Given the description of an element on the screen output the (x, y) to click on. 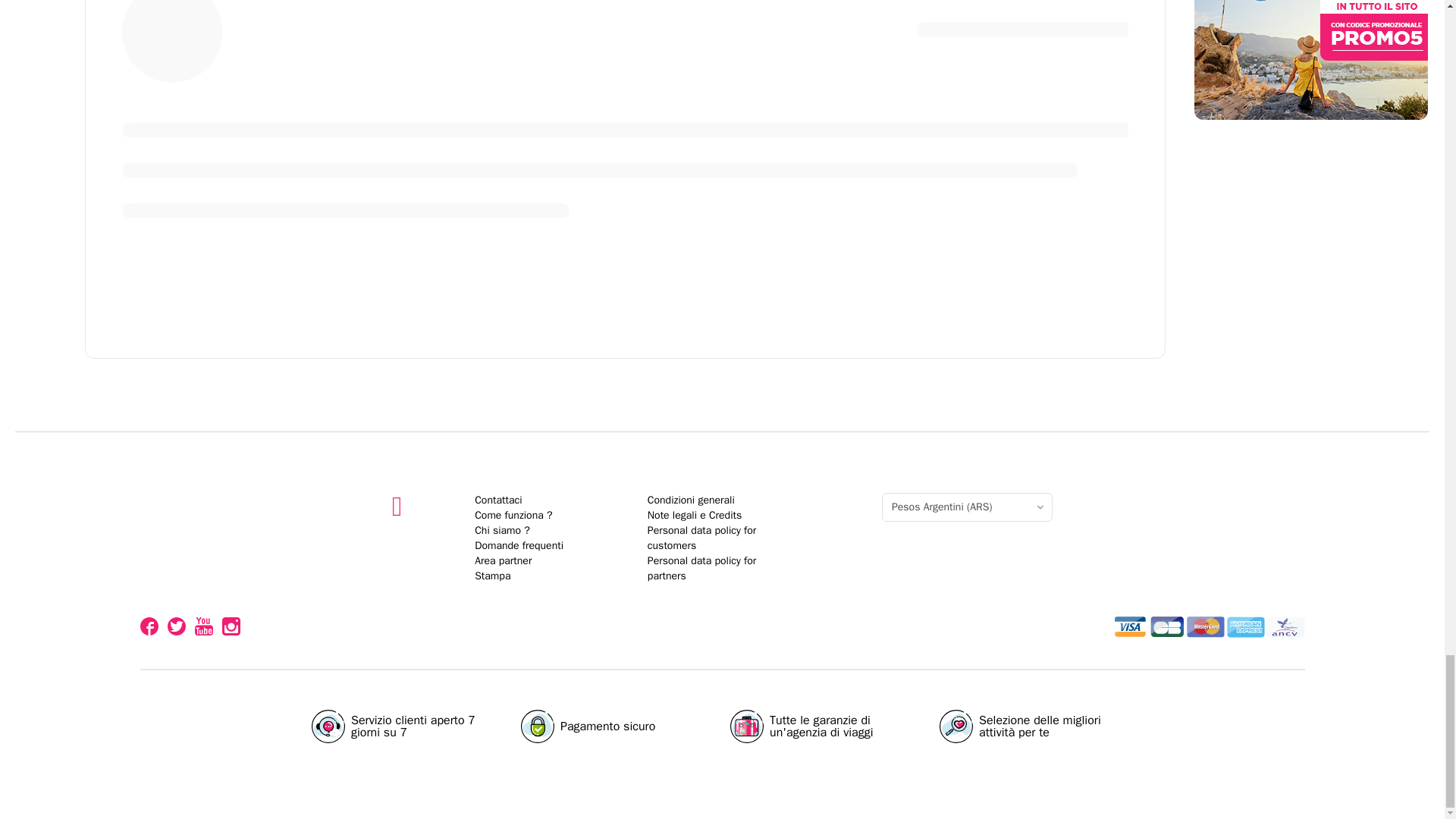
Contattaci (497, 499)
